Given the description of an element on the screen output the (x, y) to click on. 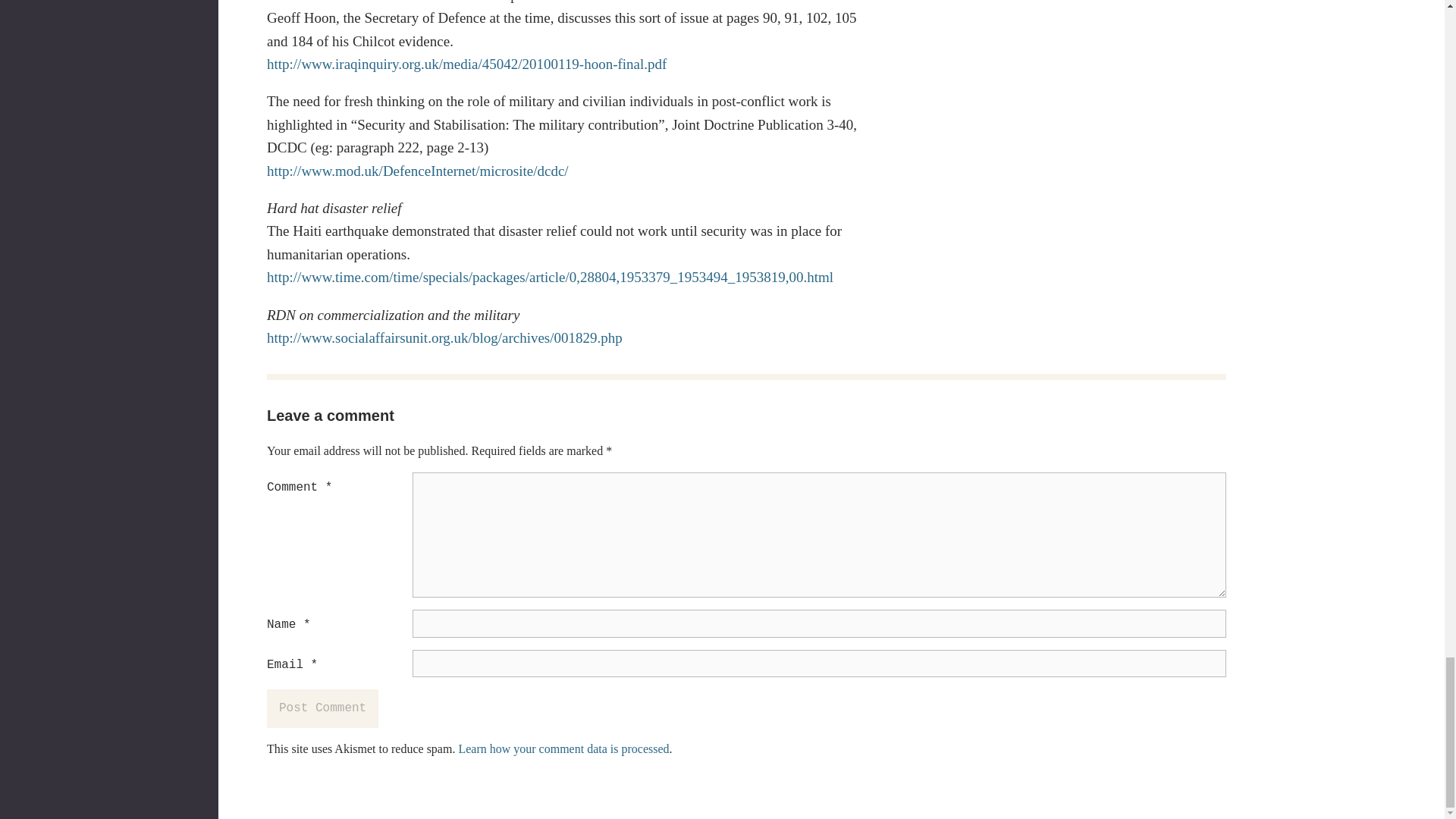
Post Comment (322, 708)
